Given the description of an element on the screen output the (x, y) to click on. 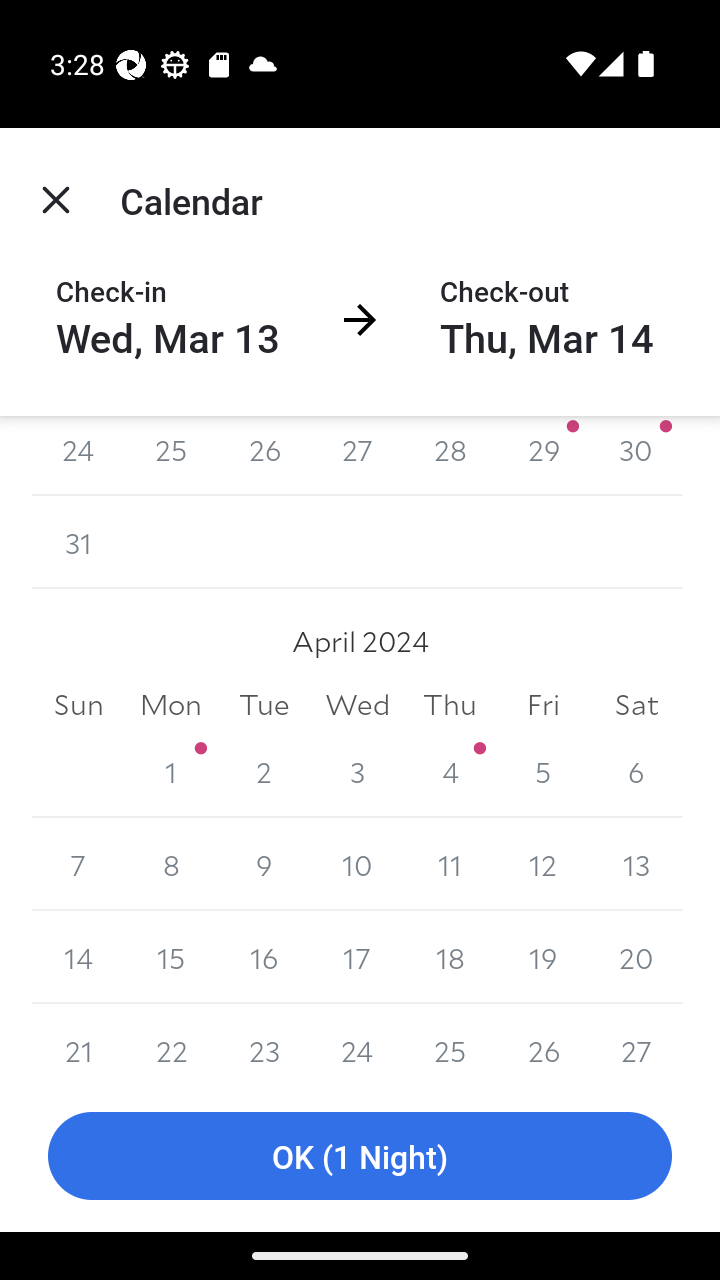
24 24 March 2024 (78, 456)
25 25 March 2024 (171, 456)
26 26 March 2024 (264, 456)
27 27 March 2024 (357, 456)
28 28 March 2024 (449, 456)
29 29 March 2024 (542, 456)
30 30 March 2024 (636, 456)
31 31 March 2024 (78, 542)
Sun (78, 703)
Mon (171, 703)
Tue (264, 703)
Wed (357, 703)
Thu (449, 703)
Fri (542, 703)
Sat (636, 703)
1 1 April 2024 (171, 770)
2 2 April 2024 (264, 770)
3 3 April 2024 (357, 770)
4 4 April 2024 (449, 770)
5 5 April 2024 (542, 770)
6 6 April 2024 (636, 770)
7 7 April 2024 (78, 864)
8 8 April 2024 (171, 864)
9 9 April 2024 (264, 864)
10 10 April 2024 (357, 864)
11 11 April 2024 (449, 864)
12 12 April 2024 (542, 864)
13 13 April 2024 (636, 864)
14 14 April 2024 (78, 957)
15 15 April 2024 (171, 957)
16 16 April 2024 (264, 957)
17 17 April 2024 (357, 957)
18 18 April 2024 (449, 957)
19 19 April 2024 (542, 957)
20 20 April 2024 (636, 957)
21 21 April 2024 (78, 1041)
22 22 April 2024 (171, 1041)
23 23 April 2024 (264, 1041)
24 24 April 2024 (357, 1041)
25 25 April 2024 (449, 1041)
26 26 April 2024 (542, 1041)
27 27 April 2024 (636, 1041)
OK (1 Night) (359, 1156)
